Given the description of an element on the screen output the (x, y) to click on. 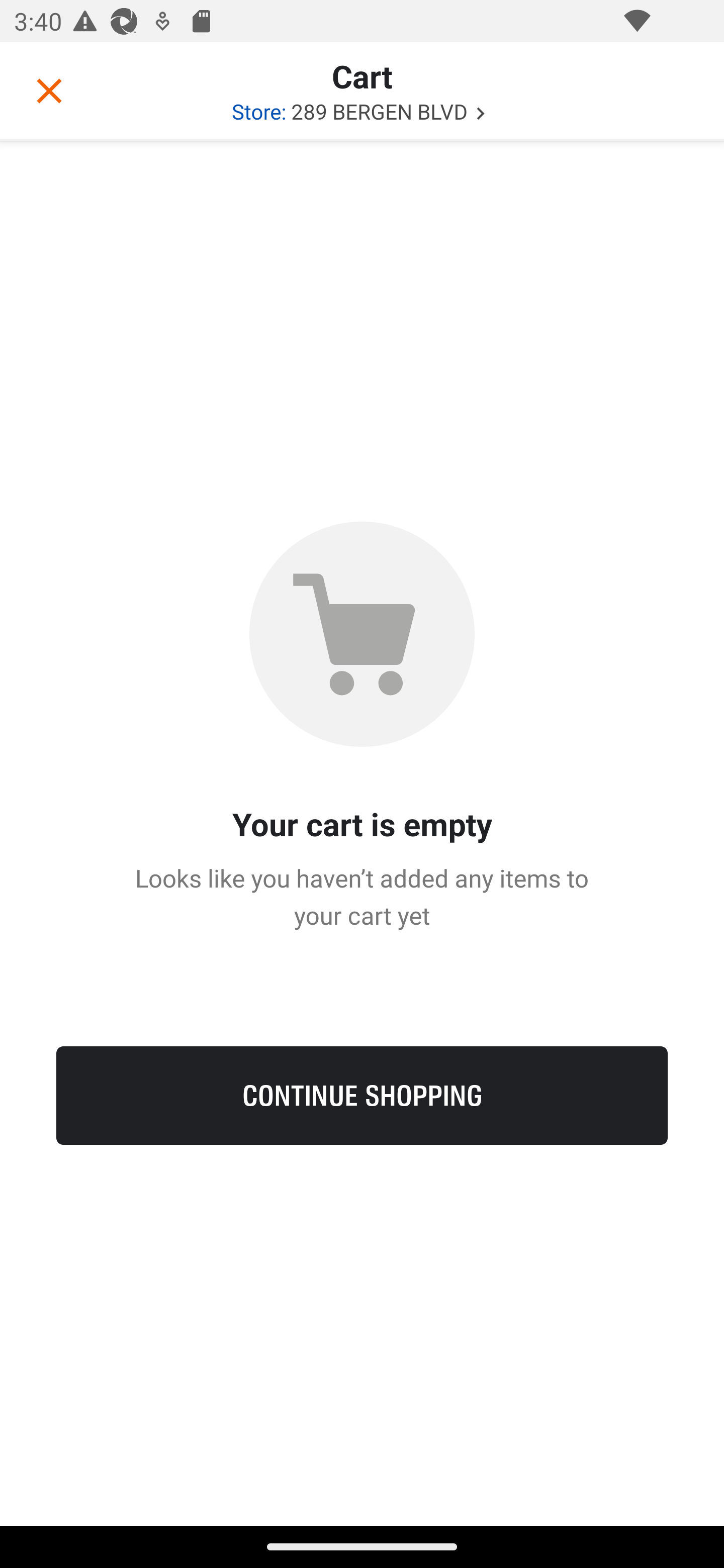
Close cart  (49, 89)
289 BERGEN BLVD Store: 289 BERGEN BLVD  (361, 111)
CONTINUE SHOPPING (361, 1094)
